Given the description of an element on the screen output the (x, y) to click on. 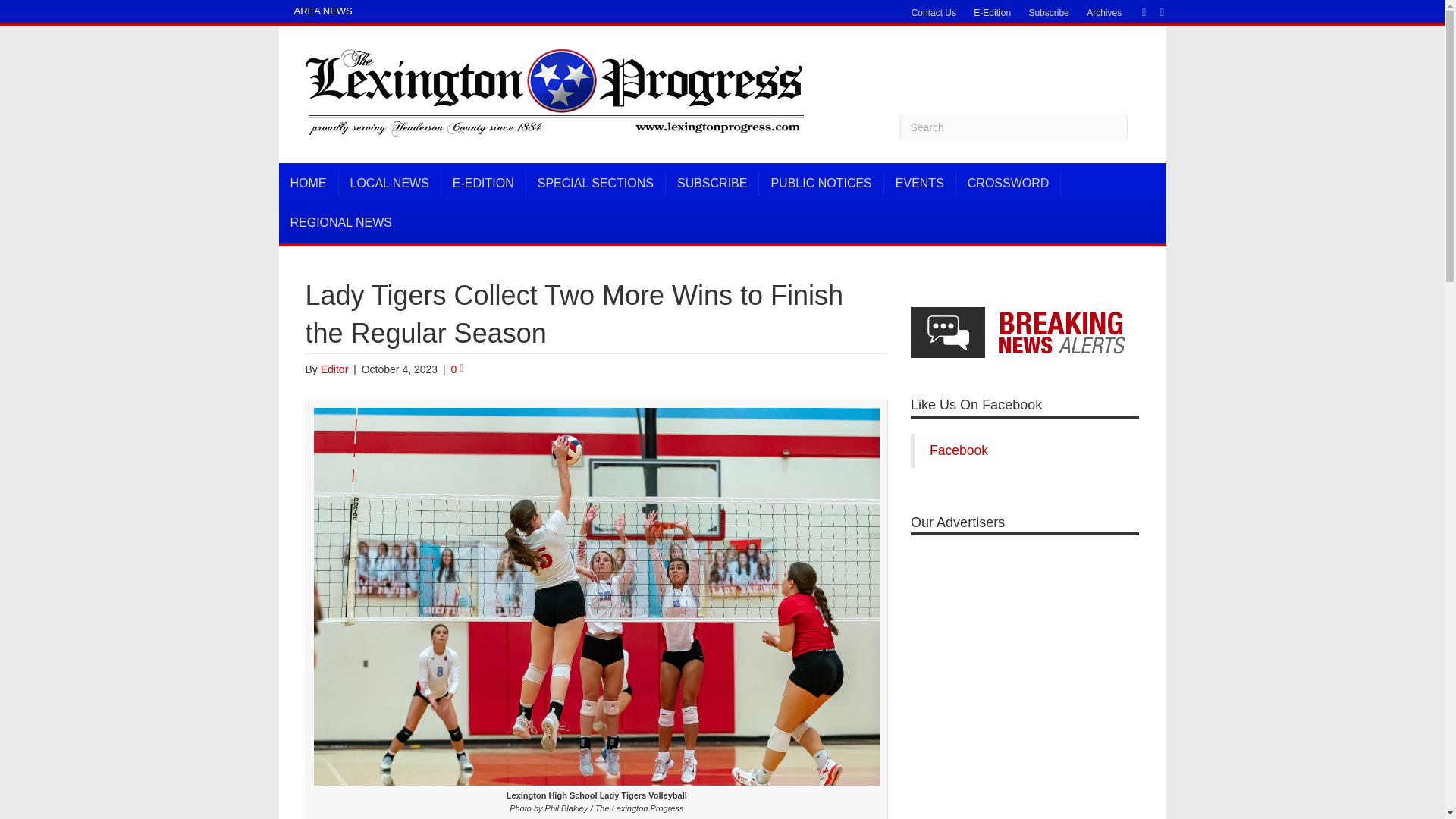
SUBSCRIBE (711, 183)
Type and press Enter to search. (1012, 127)
EVENTS (919, 183)
SPECIAL SECTIONS (595, 183)
Email (1154, 11)
E-Edition (991, 13)
PUBLIC NOTICES (820, 183)
Archives (1103, 13)
HOME (309, 183)
Editor (334, 369)
Subscribe (1047, 13)
Contact Us (933, 13)
E-EDITION (483, 183)
REGIONAL NEWS (341, 222)
0 (457, 369)
